Given the description of an element on the screen output the (x, y) to click on. 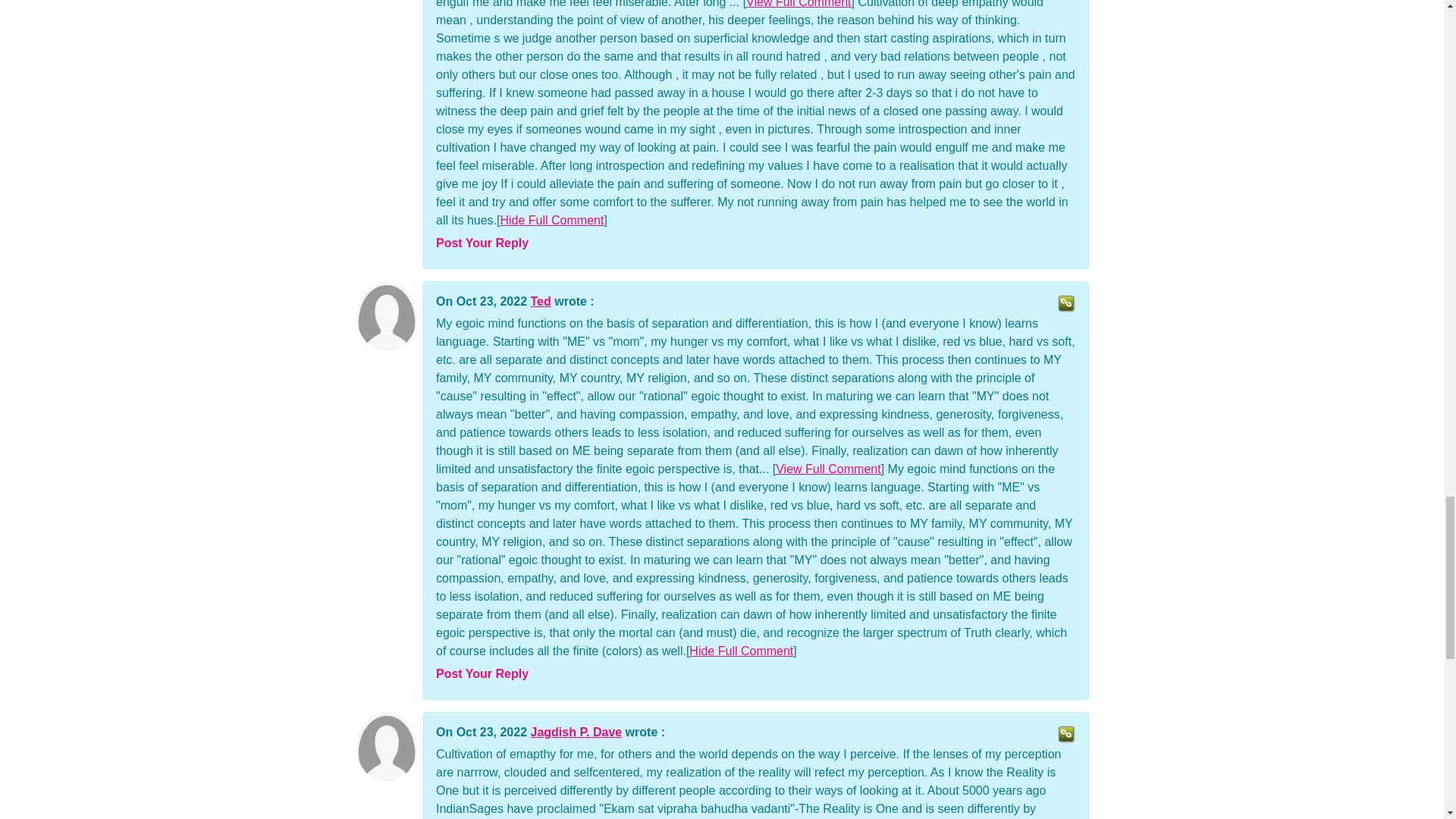
Hide Full Comment (551, 219)
Hide Full Comment (740, 650)
Jagdish P. Dave (577, 731)
Post Your Reply (481, 673)
Ted (541, 300)
Post Your Reply (481, 242)
View Full Comment (828, 468)
View Full Comment (797, 4)
